Given the description of an element on the screen output the (x, y) to click on. 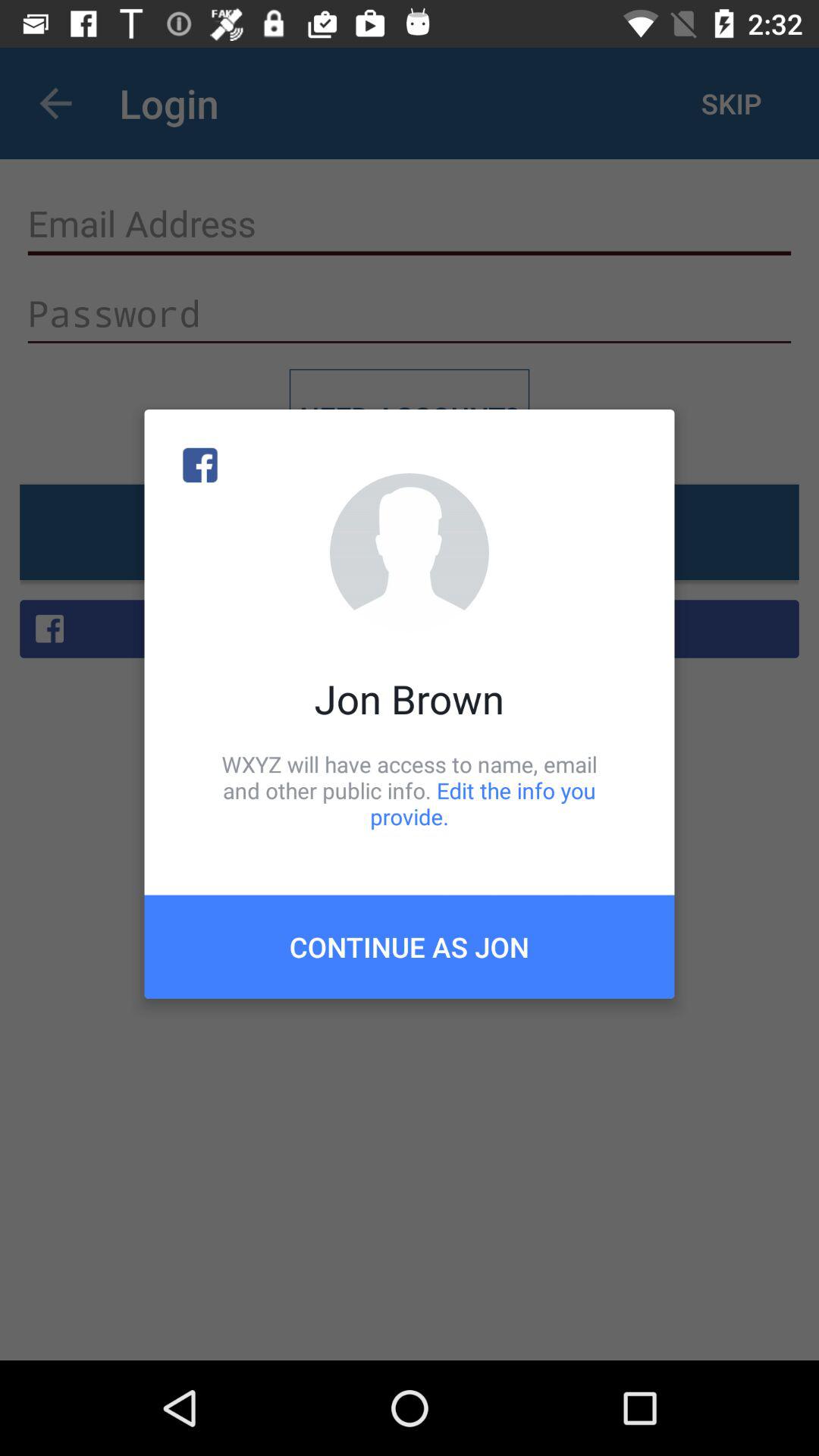
select the item below wxyz will have item (409, 946)
